Given the description of an element on the screen output the (x, y) to click on. 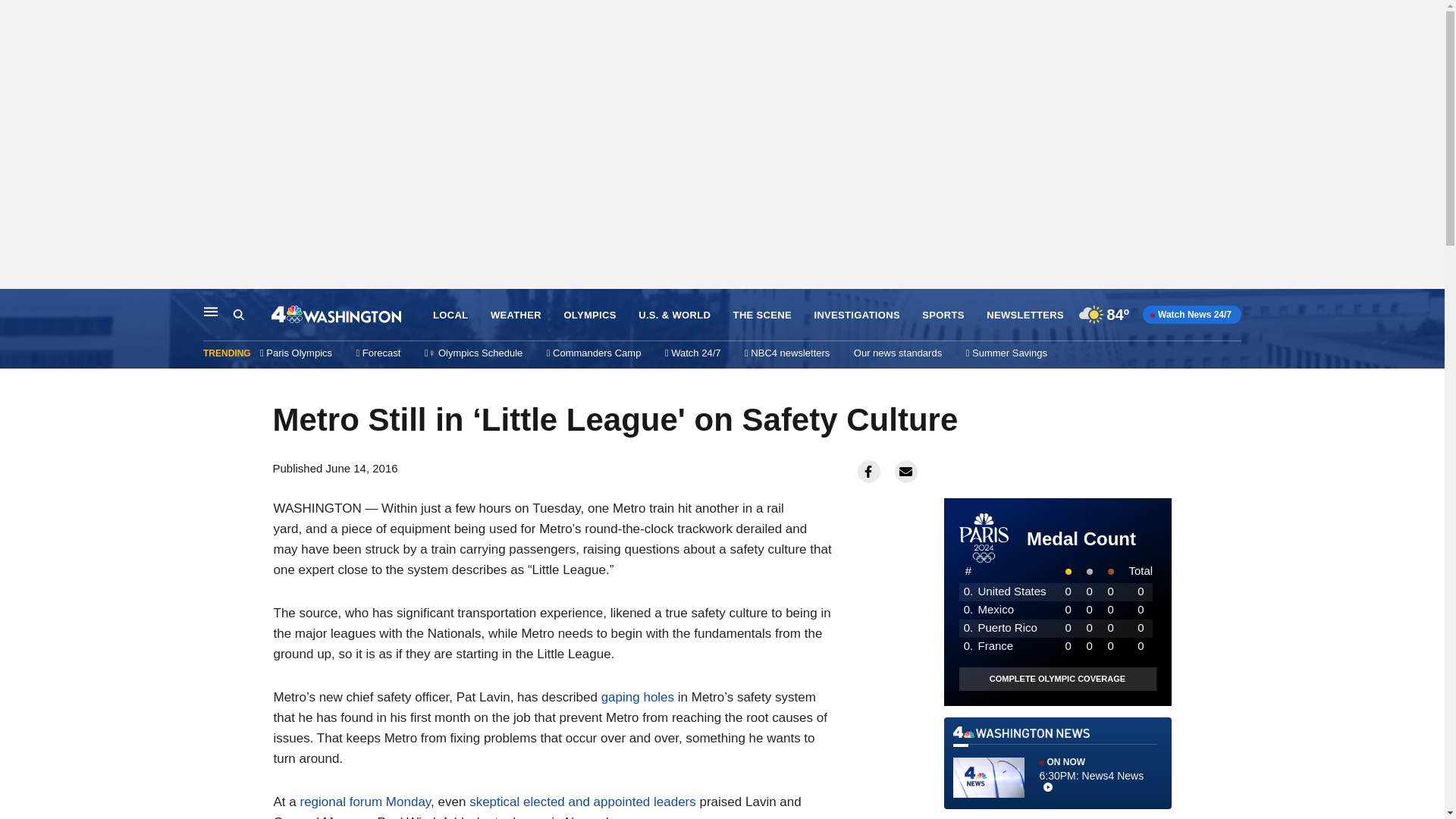
Search (238, 314)
Search (252, 314)
SPORTS (942, 315)
OLYMPICS (589, 315)
Our news standards (897, 352)
INVESTIGATIONS (856, 315)
LOCAL (449, 315)
NEWSLETTERS (1025, 315)
skeptical elected and appointed leaders (581, 801)
WEATHER (515, 315)
gaping holes (637, 697)
Main Navigation (210, 311)
Skip to content (16, 304)
THE SCENE (762, 315)
regional forum Monday (364, 801)
